Given the description of an element on the screen output the (x, y) to click on. 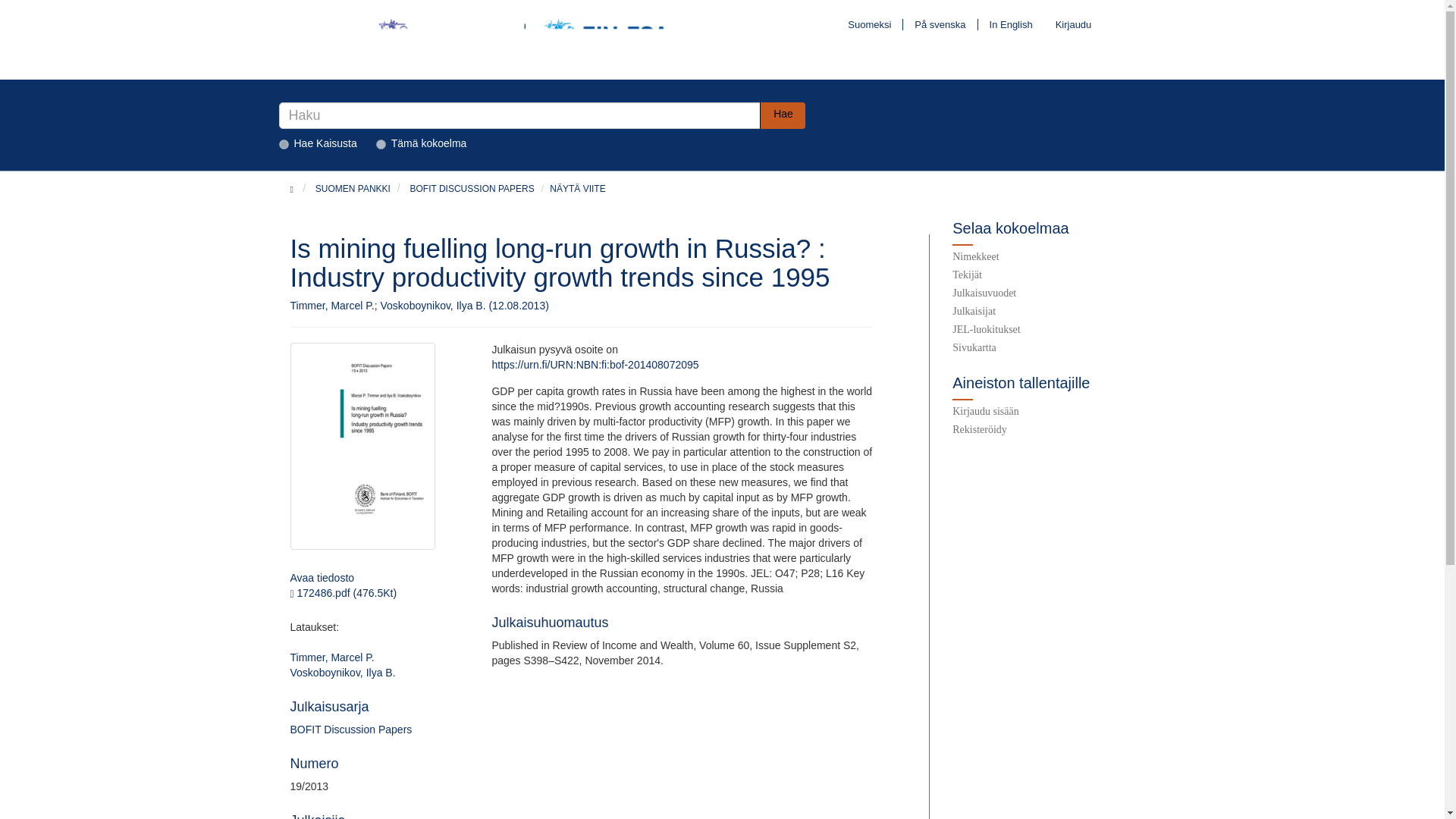
BOFIT DISCUSSION PAPERS (471, 188)
Julkaisuvuodet (1053, 294)
Julkaisijat (1053, 312)
Timmer, Marcel P. (331, 657)
SUOMEN PANKKI (352, 188)
Hae (782, 115)
Voskoboynikov, Ilya B. (341, 672)
BOFIT Discussion Papers (350, 729)
In English (1011, 24)
Suomeksi (869, 24)
Sivukartta (1053, 349)
Kirjaudu (1067, 24)
JEL-luokitukset (1053, 331)
Nimekkeet (1053, 258)
Hae (782, 115)
